Given the description of an element on the screen output the (x, y) to click on. 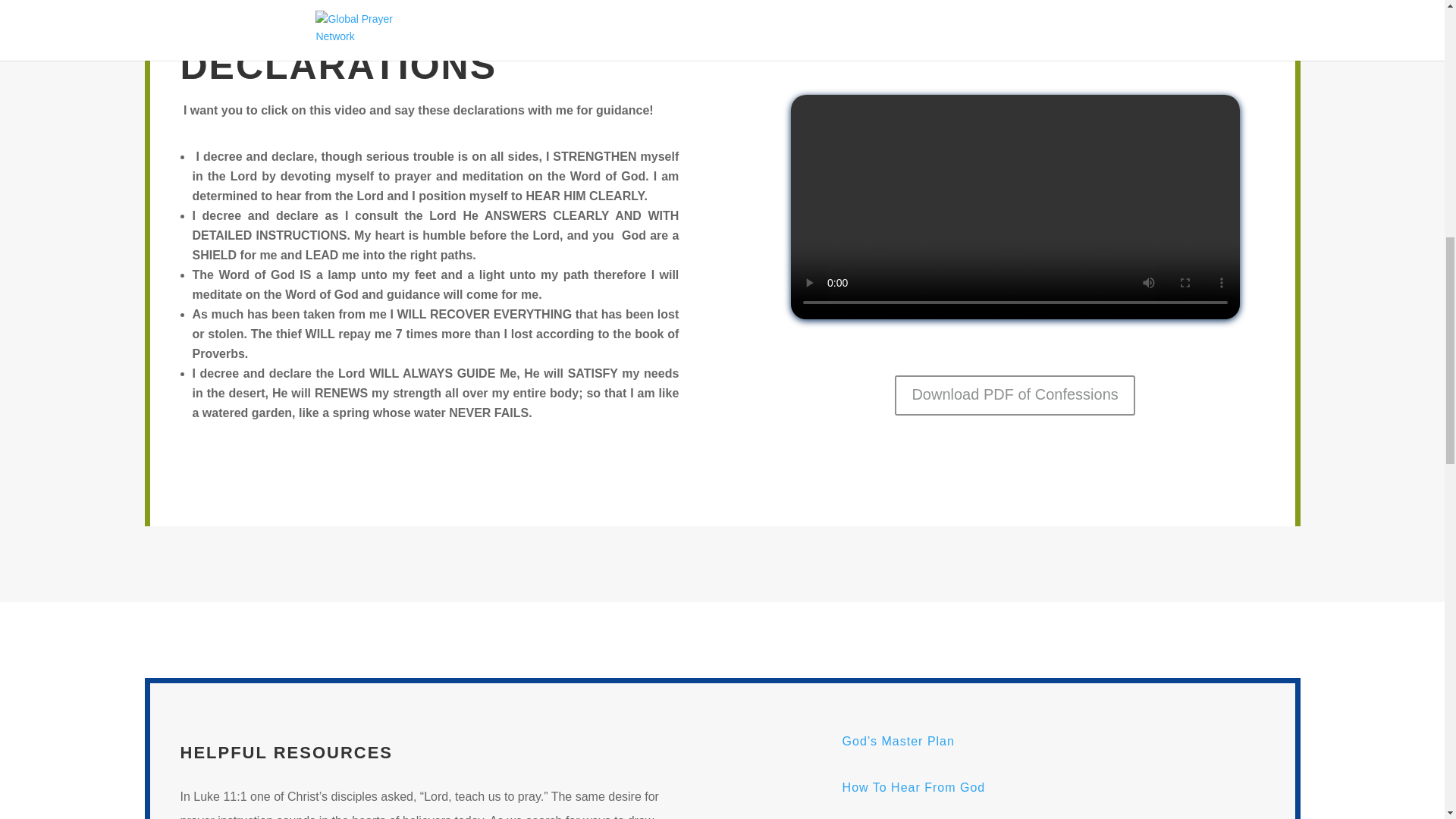
How To Hear From God (914, 787)
Download PDF of Confessions (1014, 395)
